Given the description of an element on the screen output the (x, y) to click on. 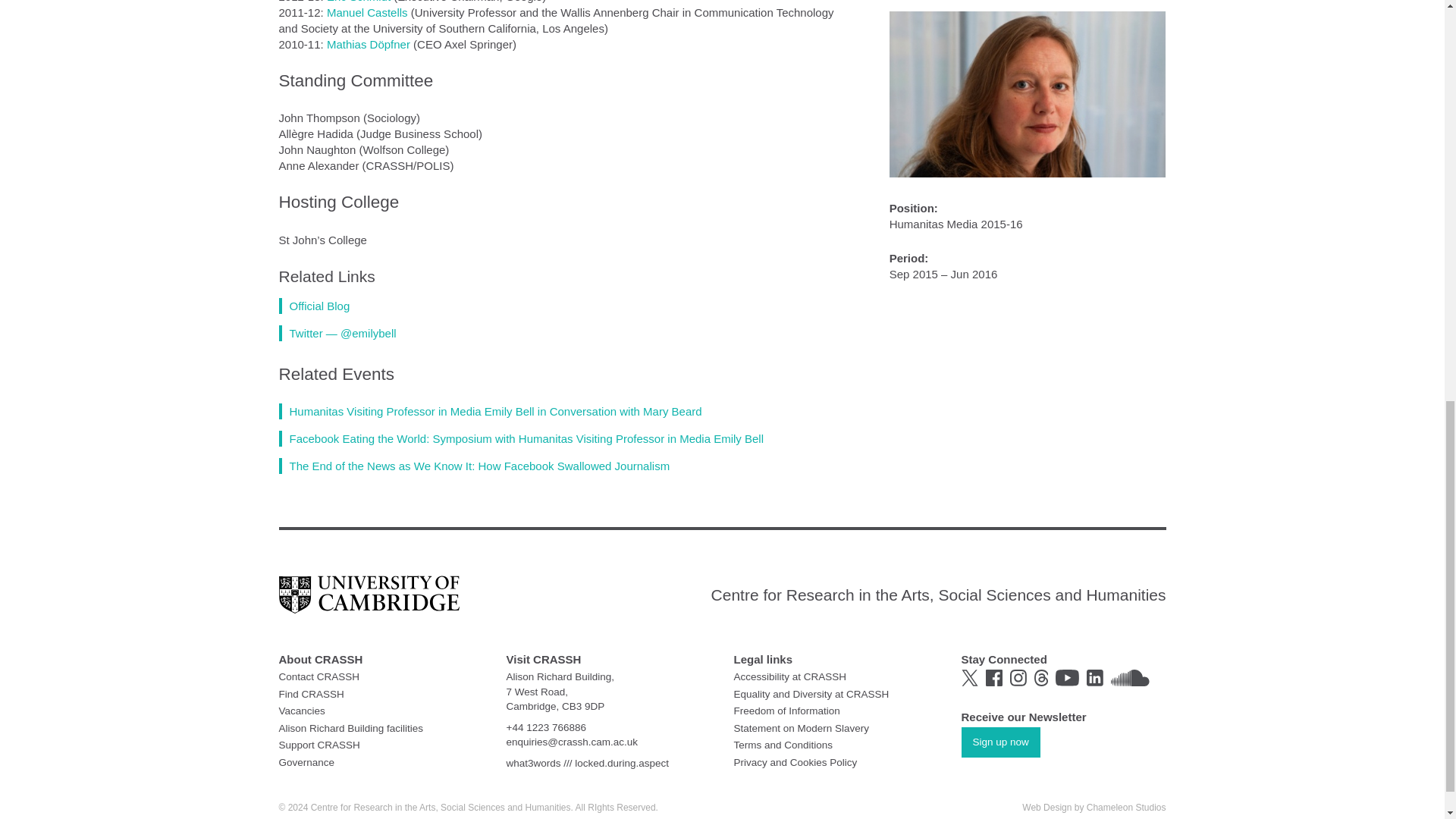
Freedom of Information (786, 710)
Governance (306, 762)
Equality and Diversity at CRASSH (811, 694)
Manuel Castells (366, 11)
Official Blog (314, 304)
Find CRASSH (311, 694)
Alison Richard Building facilities (351, 727)
Accessibility at CRASSH (790, 676)
